Given the description of an element on the screen output the (x, y) to click on. 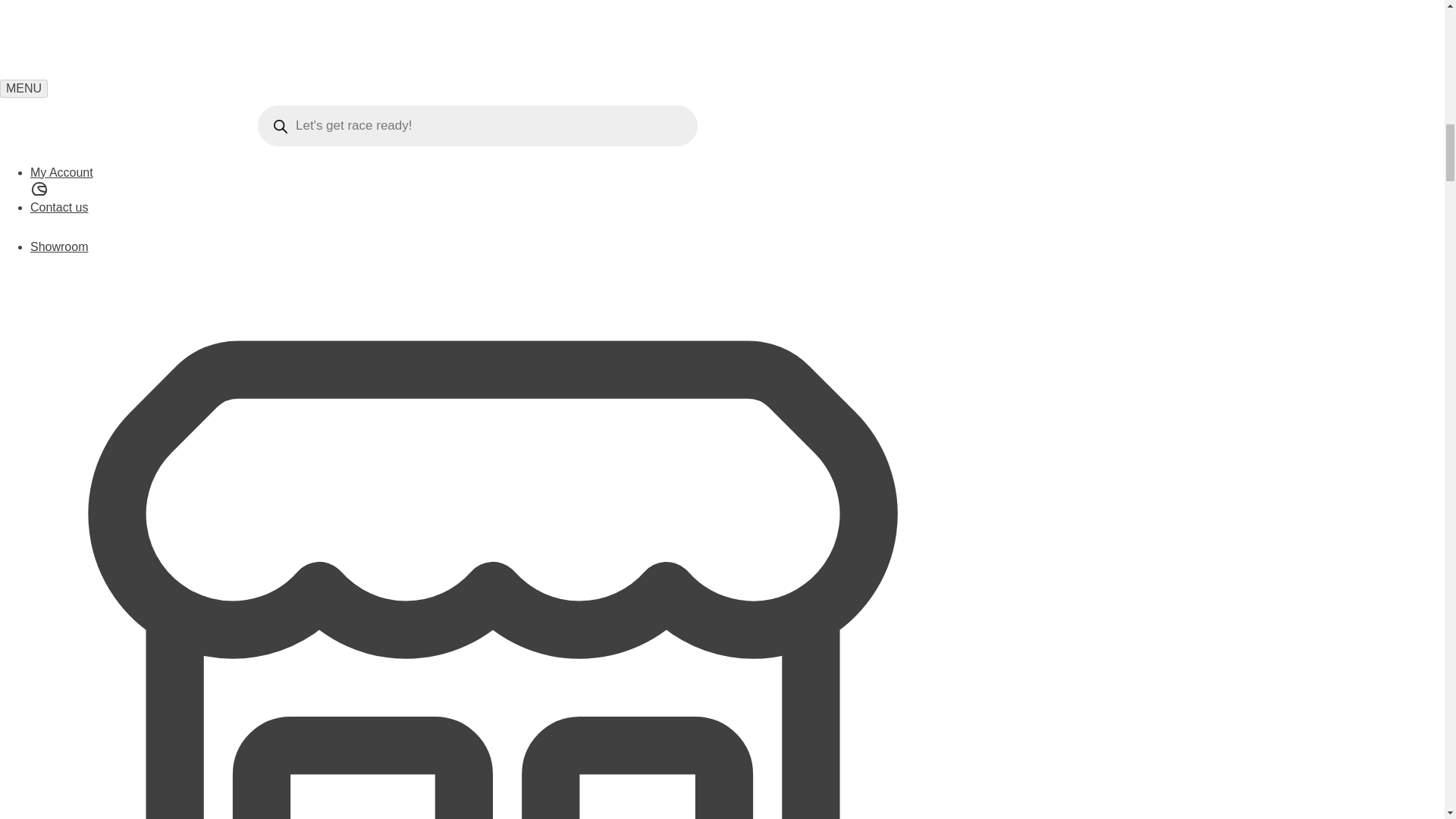
Contact us (492, 220)
My Account (492, 183)
MENU (24, 88)
